Given the description of an element on the screen output the (x, y) to click on. 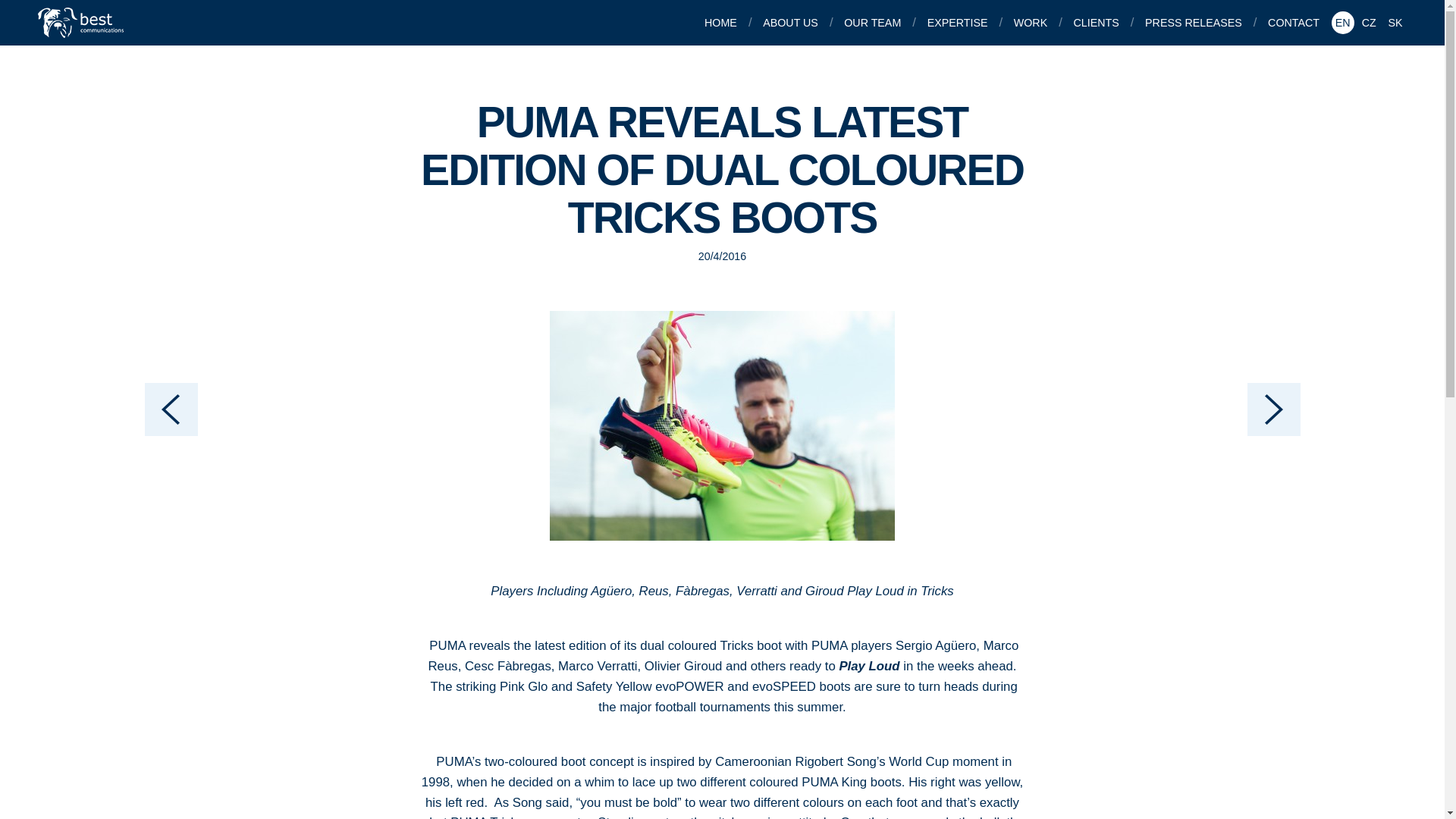
HOME (722, 22)
Best Communications (82, 22)
CLIENTS (1098, 22)
ABOUT US (792, 22)
OUR TEAM (873, 22)
CONTACT (1295, 22)
EXPERTISE (959, 22)
PRESS RELEASES (1195, 22)
SK (1395, 22)
EN (1343, 22)
